Given the description of an element on the screen output the (x, y) to click on. 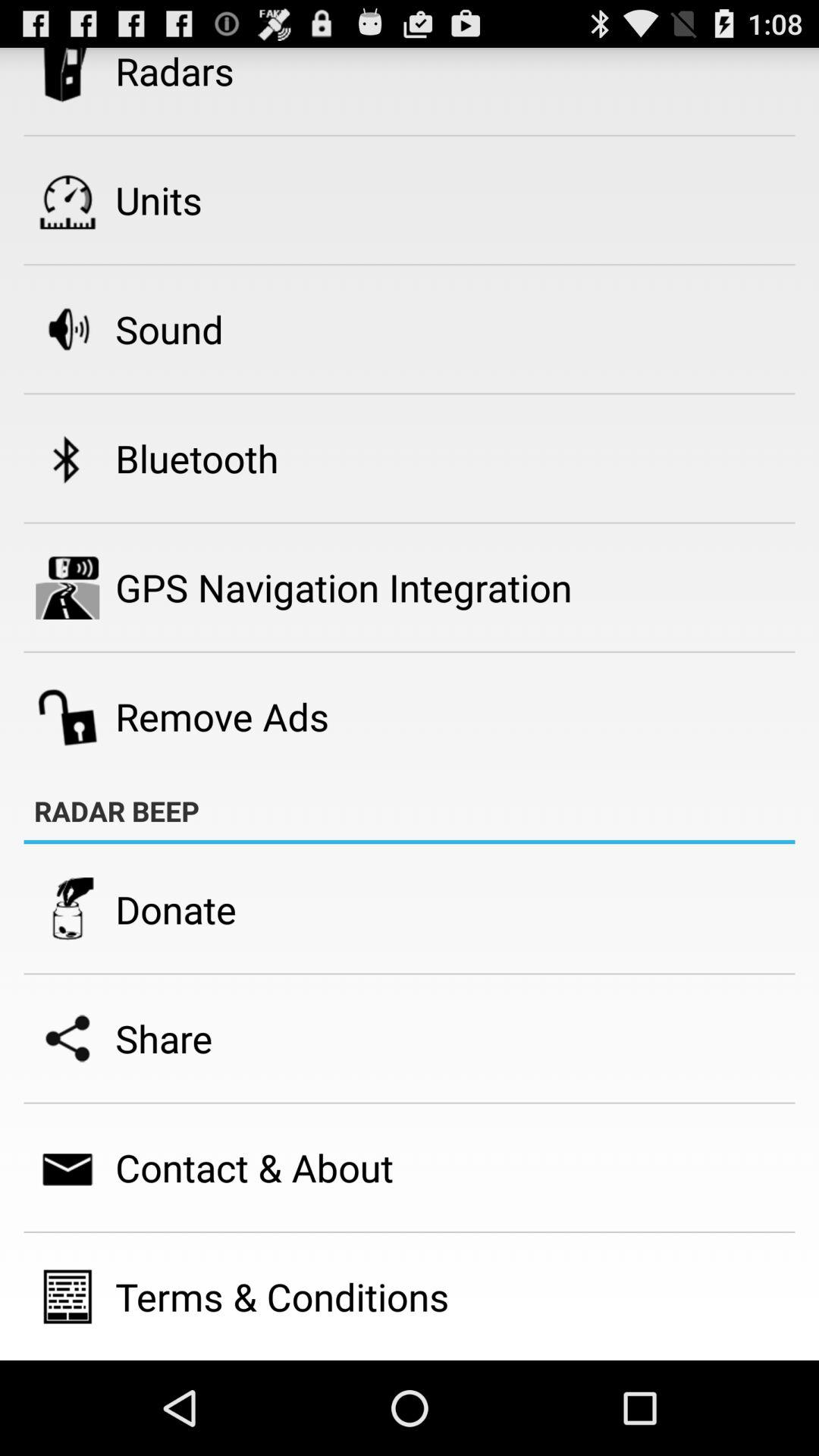
swipe until gps navigation integration icon (343, 587)
